Given the description of an element on the screen output the (x, y) to click on. 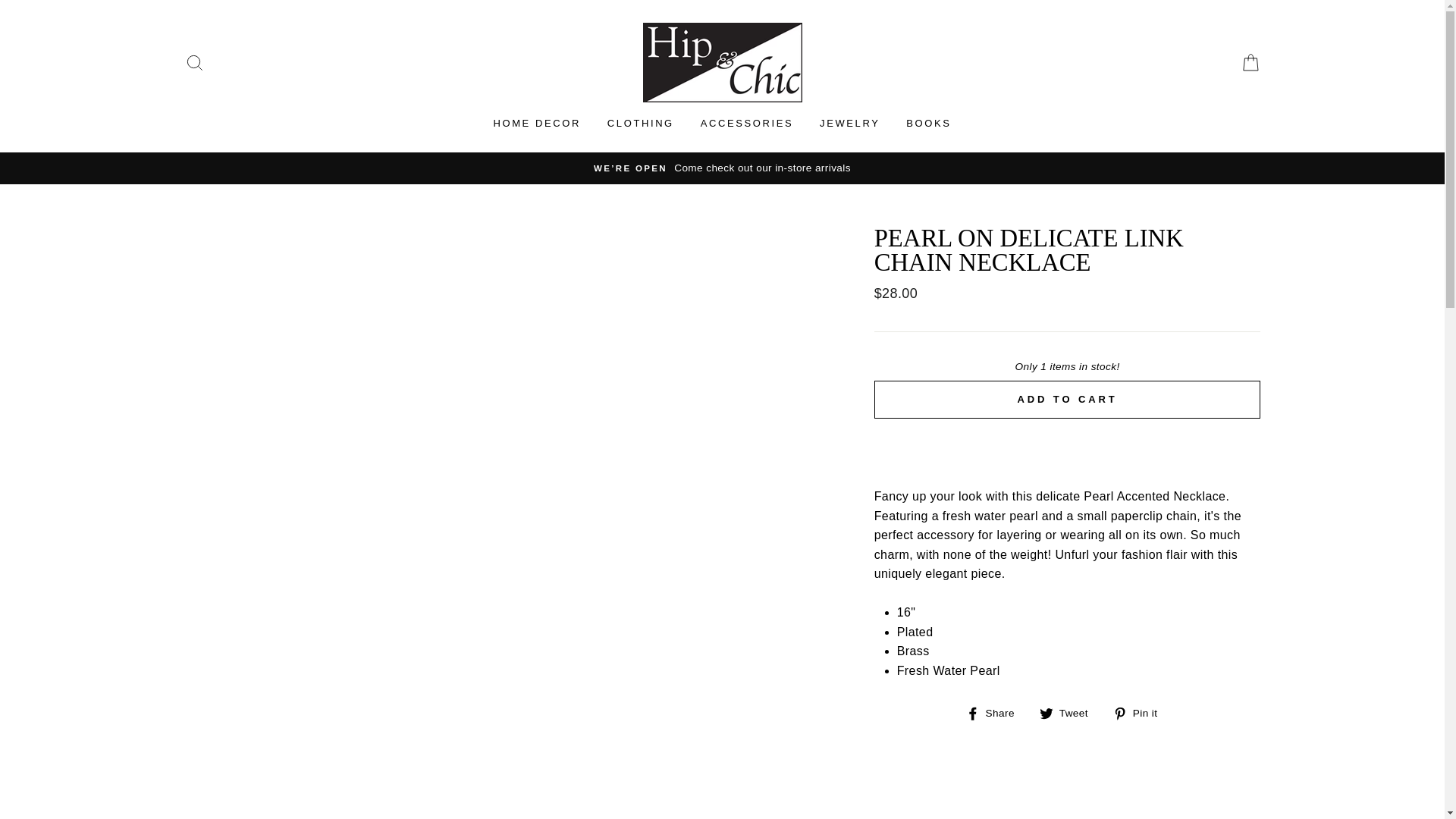
JEWELRY (849, 123)
CLOTHING (640, 123)
ACCESSORIES (746, 123)
Tweet on Twitter (1069, 712)
Skip to content (996, 712)
Share on Facebook (928, 123)
CART (996, 712)
Pin on Pinterest (1069, 712)
ADD TO CART (1141, 712)
SEARCH (1249, 61)
HOME DECOR (1141, 712)
